Given the description of an element on the screen output the (x, y) to click on. 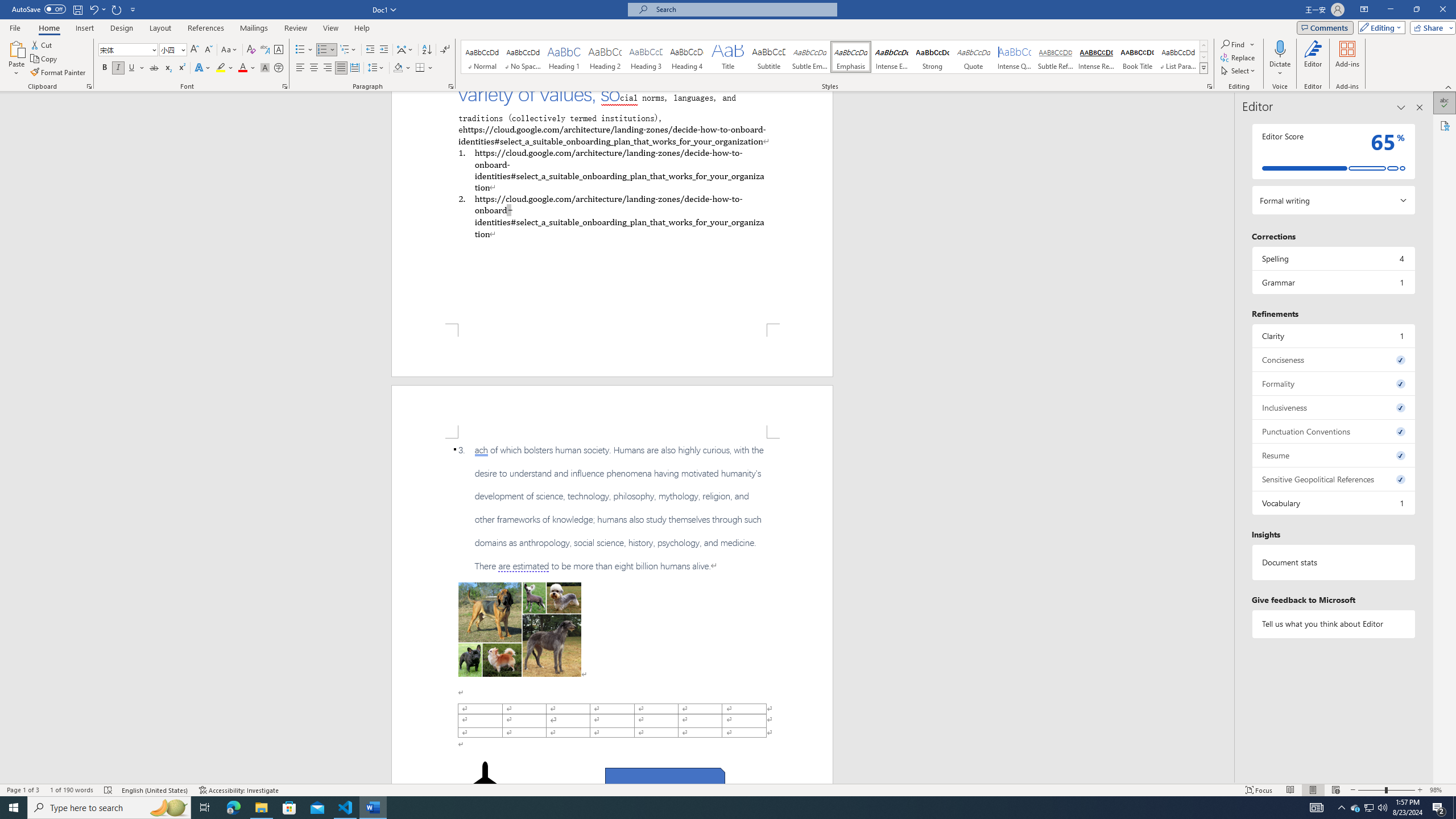
Intense Quote (1014, 56)
Page 2 content (611, 610)
Grammar, 1 issue. Press space or enter to review items. (1333, 282)
